Given the description of an element on the screen output the (x, y) to click on. 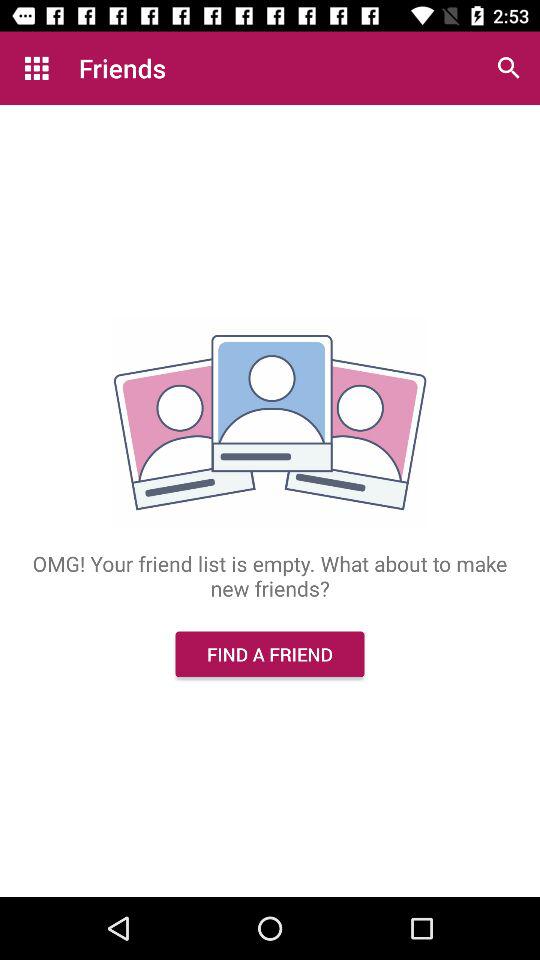
scroll to find a friend icon (269, 654)
